Given the description of an element on the screen output the (x, y) to click on. 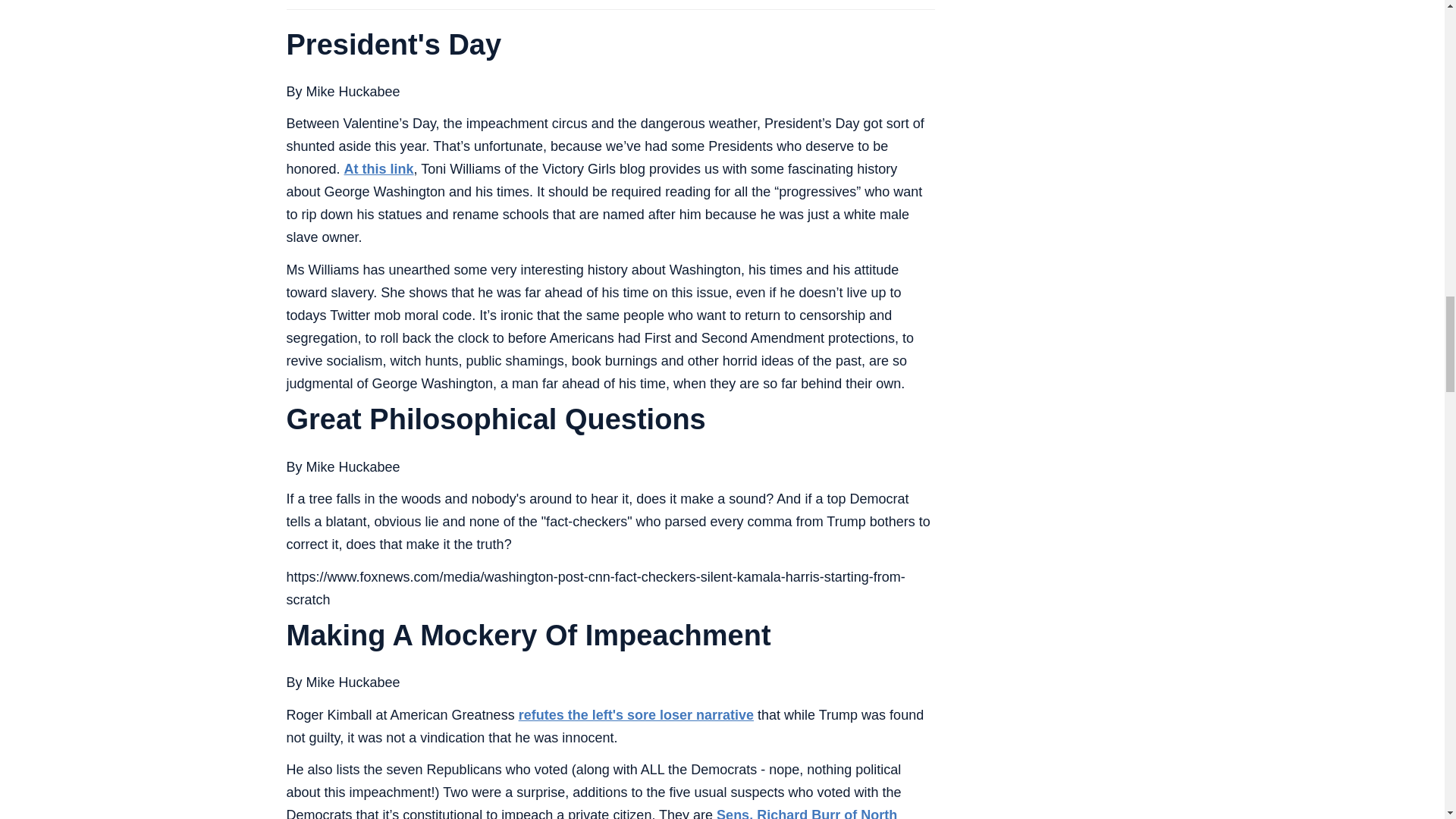
At this link (378, 168)
Sens. Richard Burr of North Carolina (592, 813)
refutes the left's sore loser narrative (636, 714)
